Given the description of an element on the screen output the (x, y) to click on. 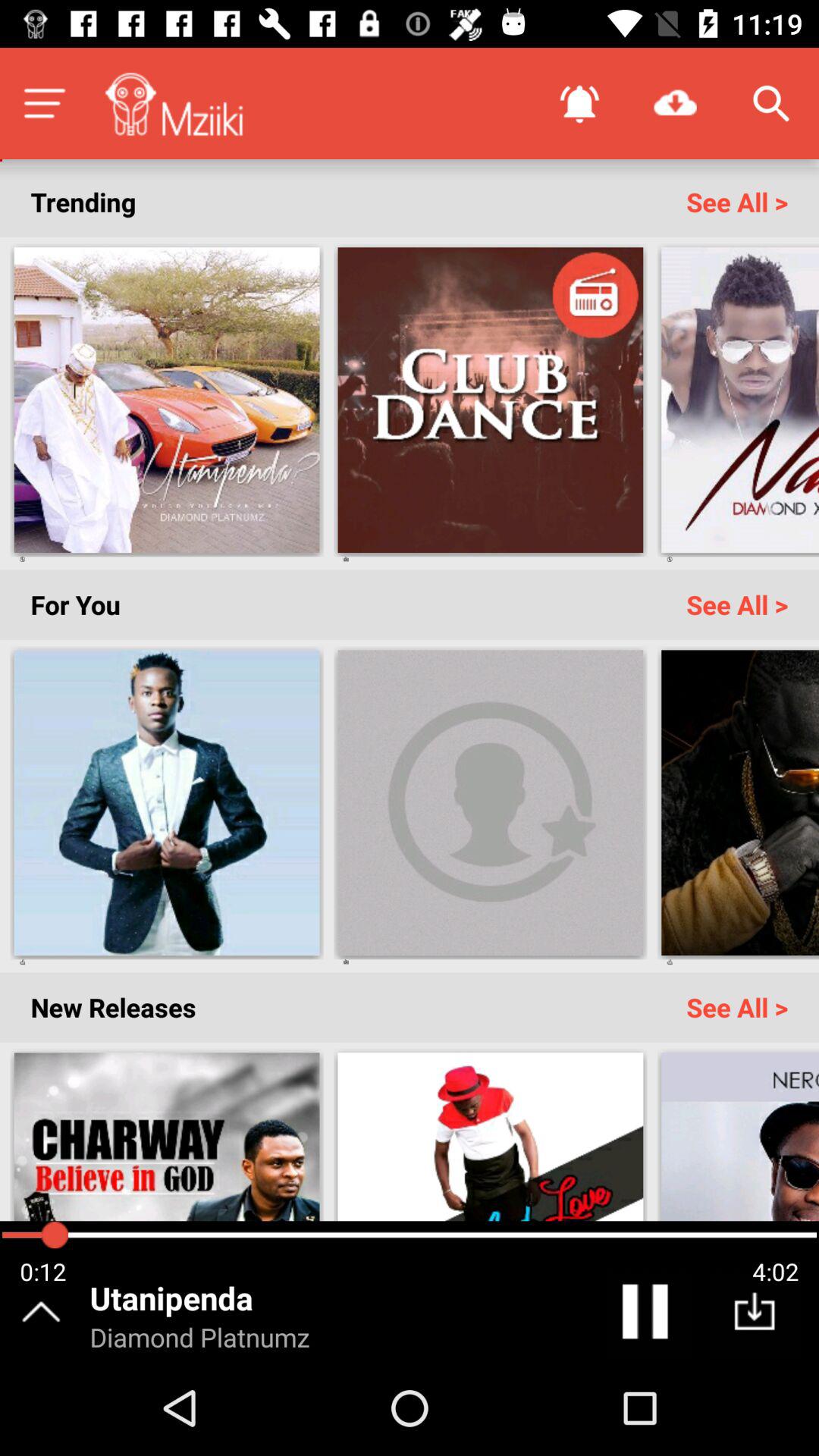
turn on item above see all > (675, 103)
